Given the description of an element on the screen output the (x, y) to click on. 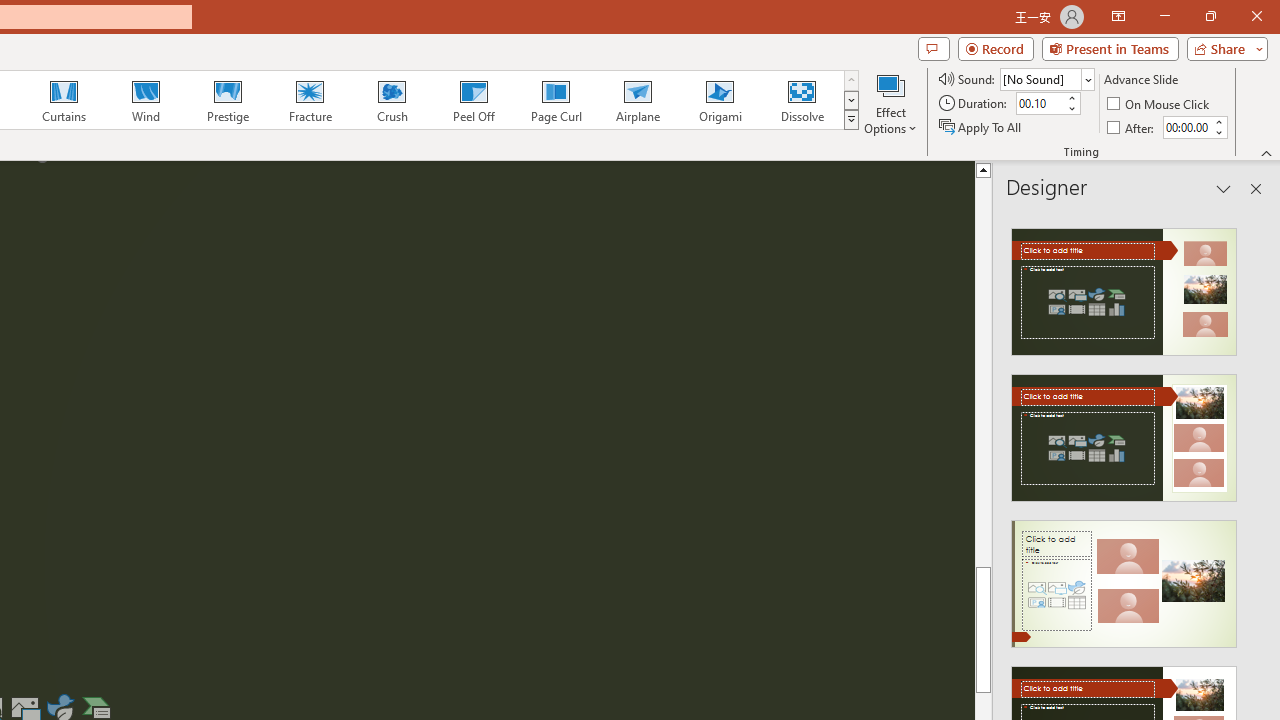
After (1186, 127)
Dissolve (802, 100)
Effect Options (890, 102)
Apply To All (981, 126)
Duration (1039, 103)
